Given the description of an element on the screen output the (x, y) to click on. 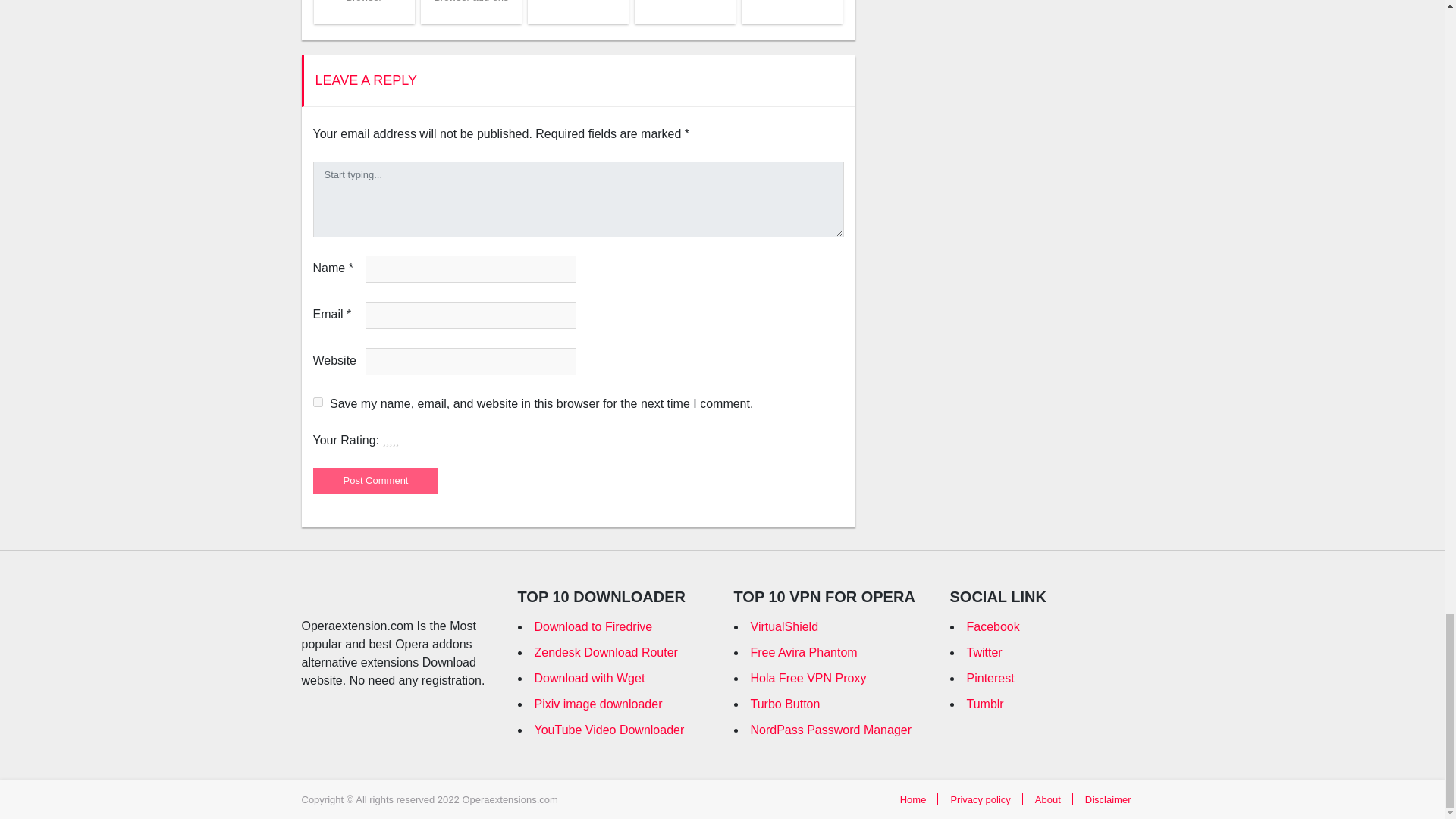
yes (317, 402)
Download the Kubana Bar extension for opera Browser (363, 1)
Post Comment (375, 480)
